Given the description of an element on the screen output the (x, y) to click on. 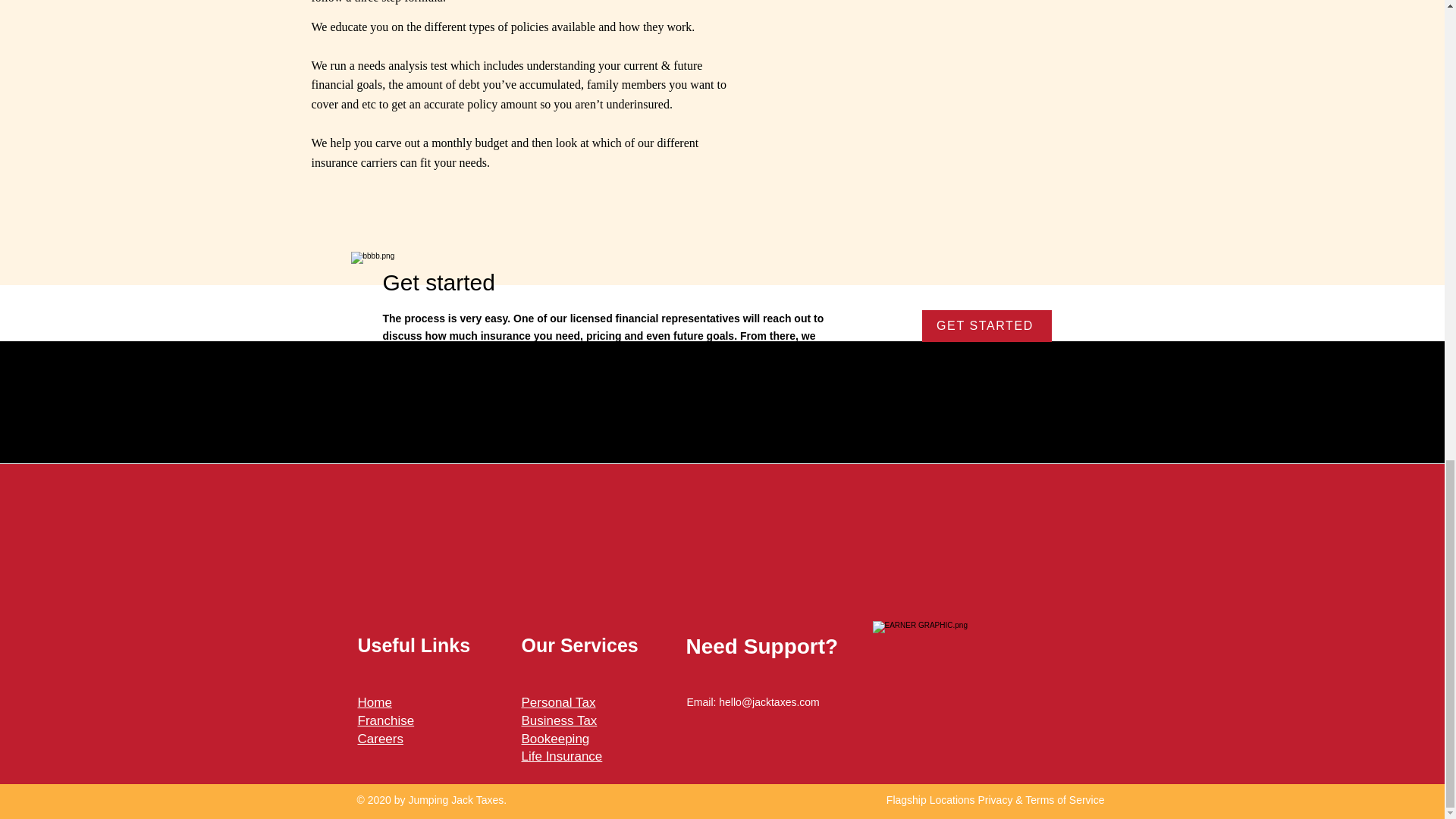
Life Insurance (561, 756)
Careers (380, 739)
Flagship Locations  (932, 799)
Business Tax (558, 720)
Personal Tax (558, 702)
Franchise (386, 720)
Home (374, 702)
Bookeeping (555, 739)
GET STARTED (986, 326)
